Given the description of an element on the screen output the (x, y) to click on. 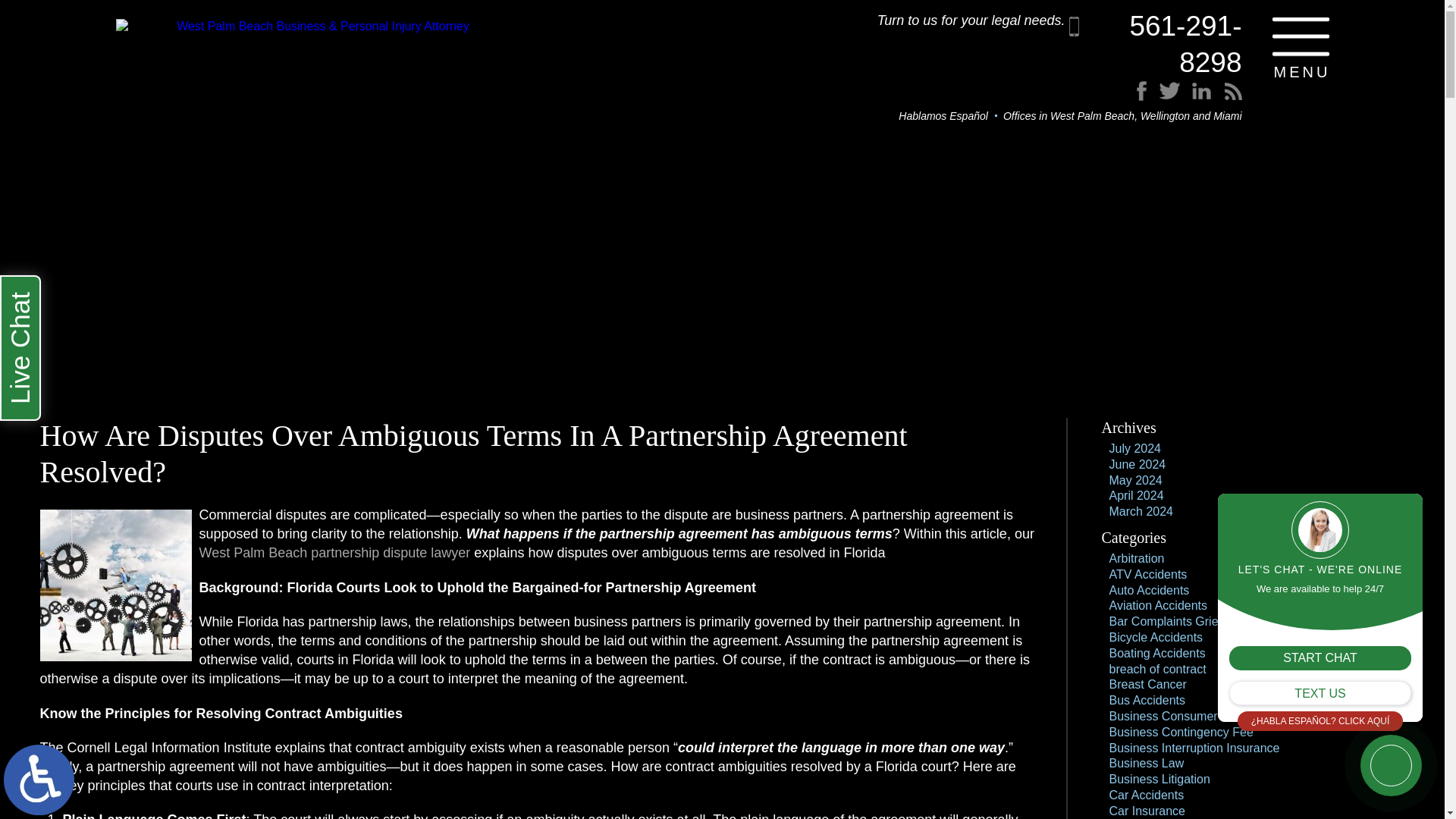
RSS (1206, 100)
PartnerBusiness (114, 584)
LinkedIn (1193, 100)
Facebook (1172, 100)
Twitter (1182, 100)
